Given the description of an element on the screen output the (x, y) to click on. 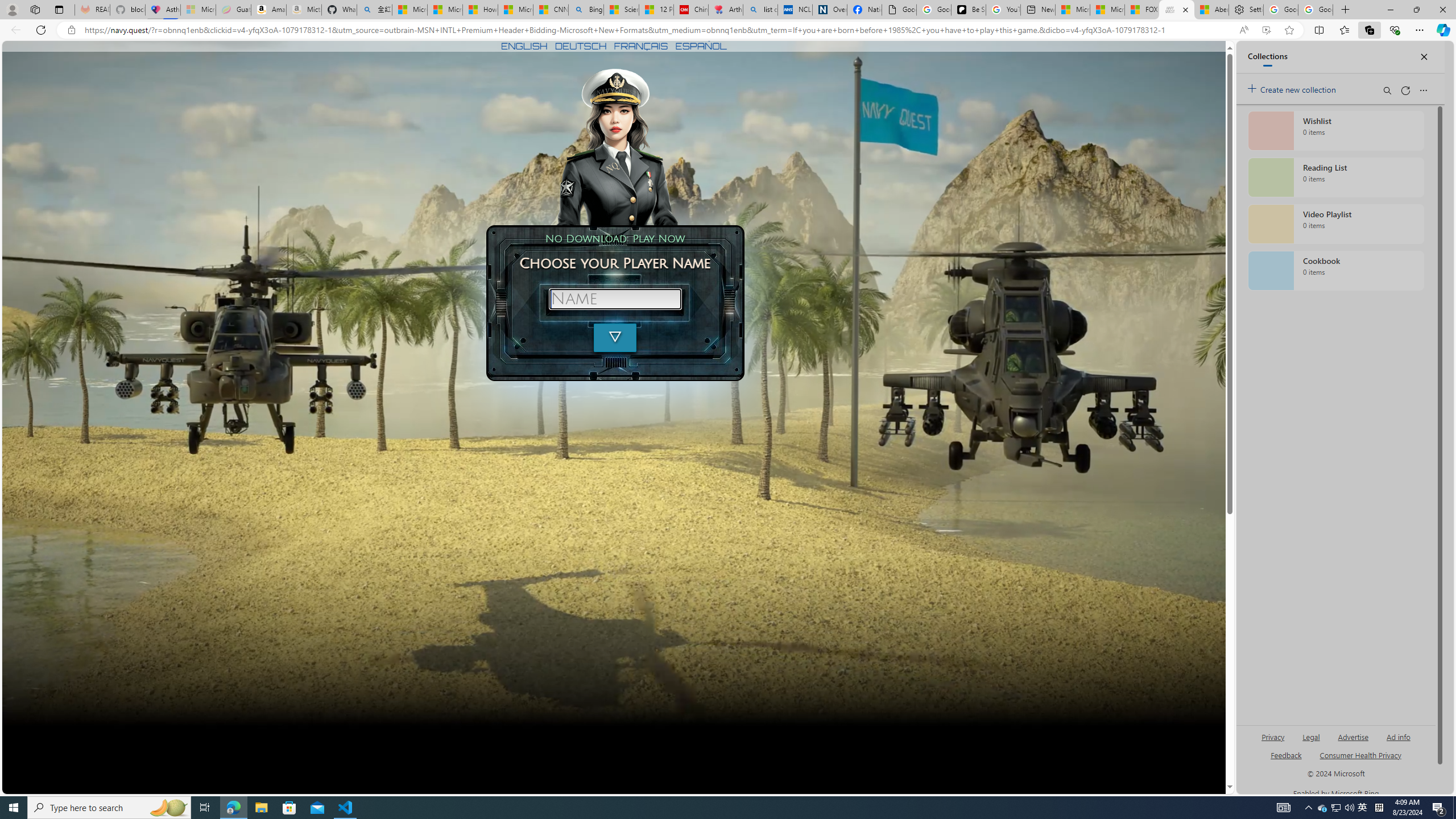
Enhance video (1266, 29)
NCL Adult Asthma Inhaler Choice Guideline (794, 9)
How I Got Rid of Microsoft Edge's Unnecessary Features (479, 9)
